Given the description of an element on the screen output the (x, y) to click on. 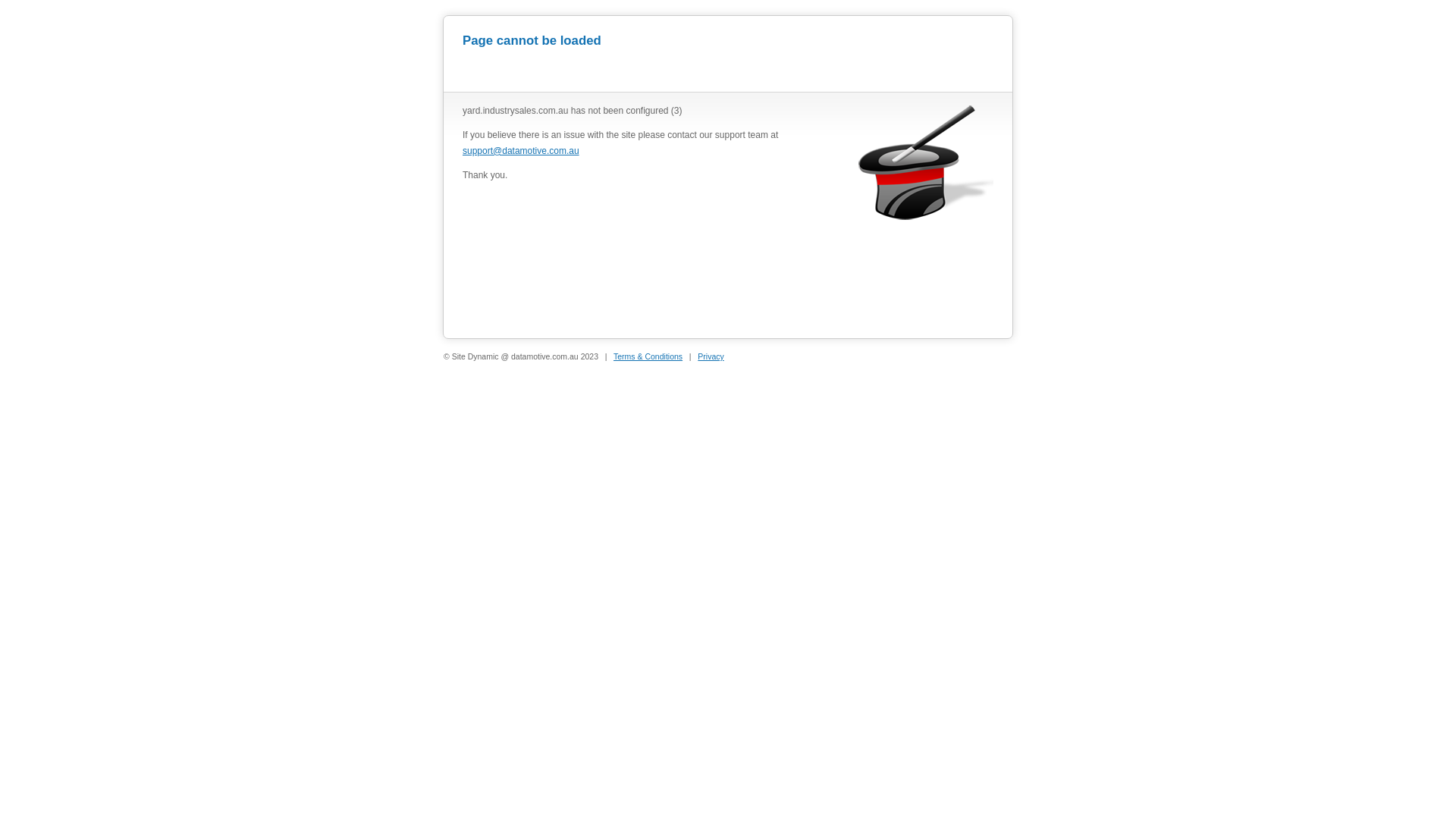
support@datamotive.com.au Element type: text (520, 150)
Privacy Element type: text (710, 355)
Terms & Conditions Element type: text (647, 355)
